Given the description of an element on the screen output the (x, y) to click on. 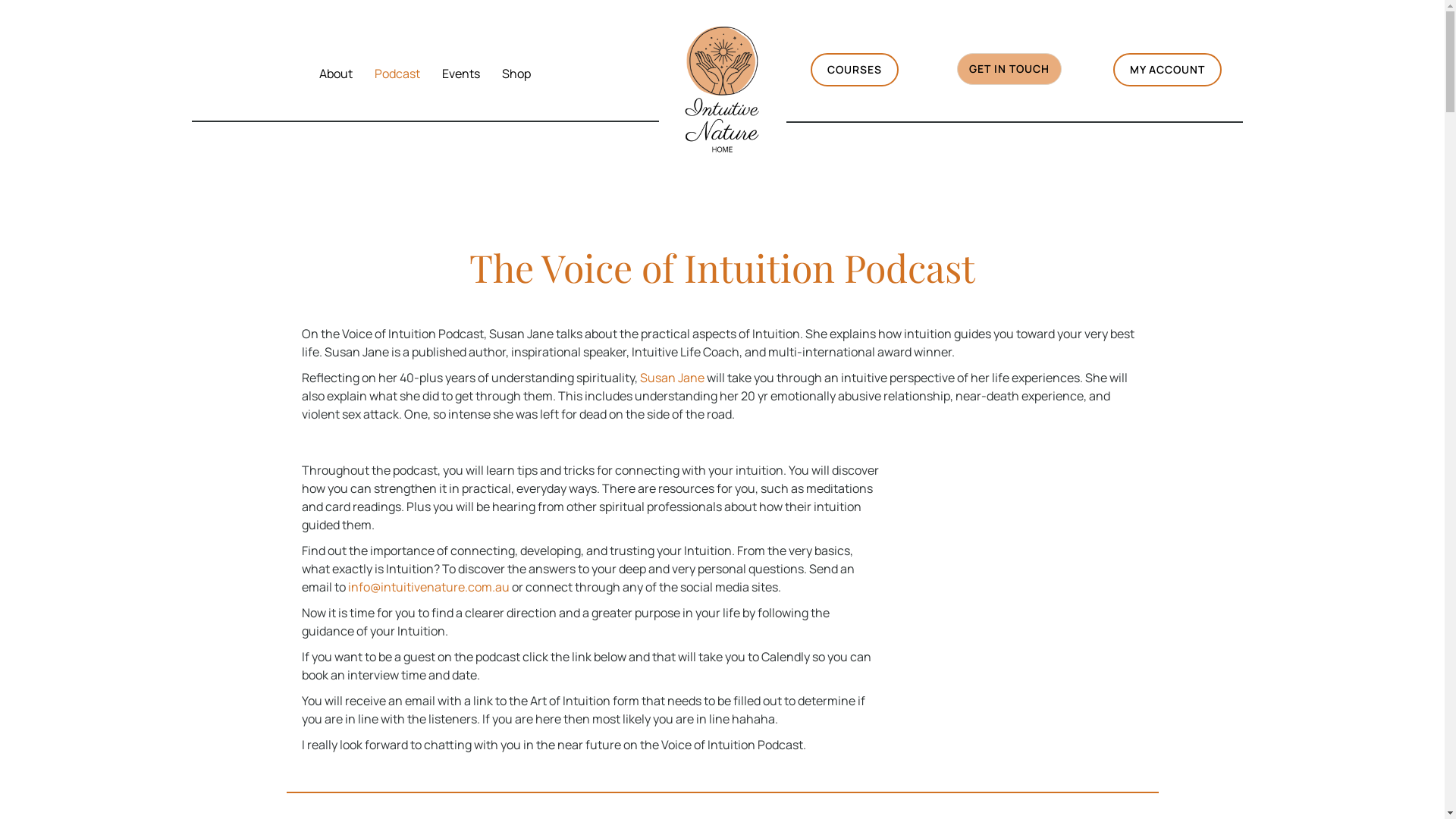
About Element type: text (335, 73)
Intuitive Nature HOME (2) Element type: hover (721, 87)
Susan Jane Element type: text (672, 377)
MY ACCOUNT Element type: text (1167, 69)
Events Element type: text (460, 73)
info@intuitivenature.com.au Element type: text (427, 586)
GET IN TOUCH Element type: text (1009, 68)
The Voice of Intuition Podcast Template Element type: hover (1025, 574)
COURSES Element type: text (854, 69)
Shop Element type: text (516, 73)
Podcast Element type: text (397, 73)
